Given the description of an element on the screen output the (x, y) to click on. 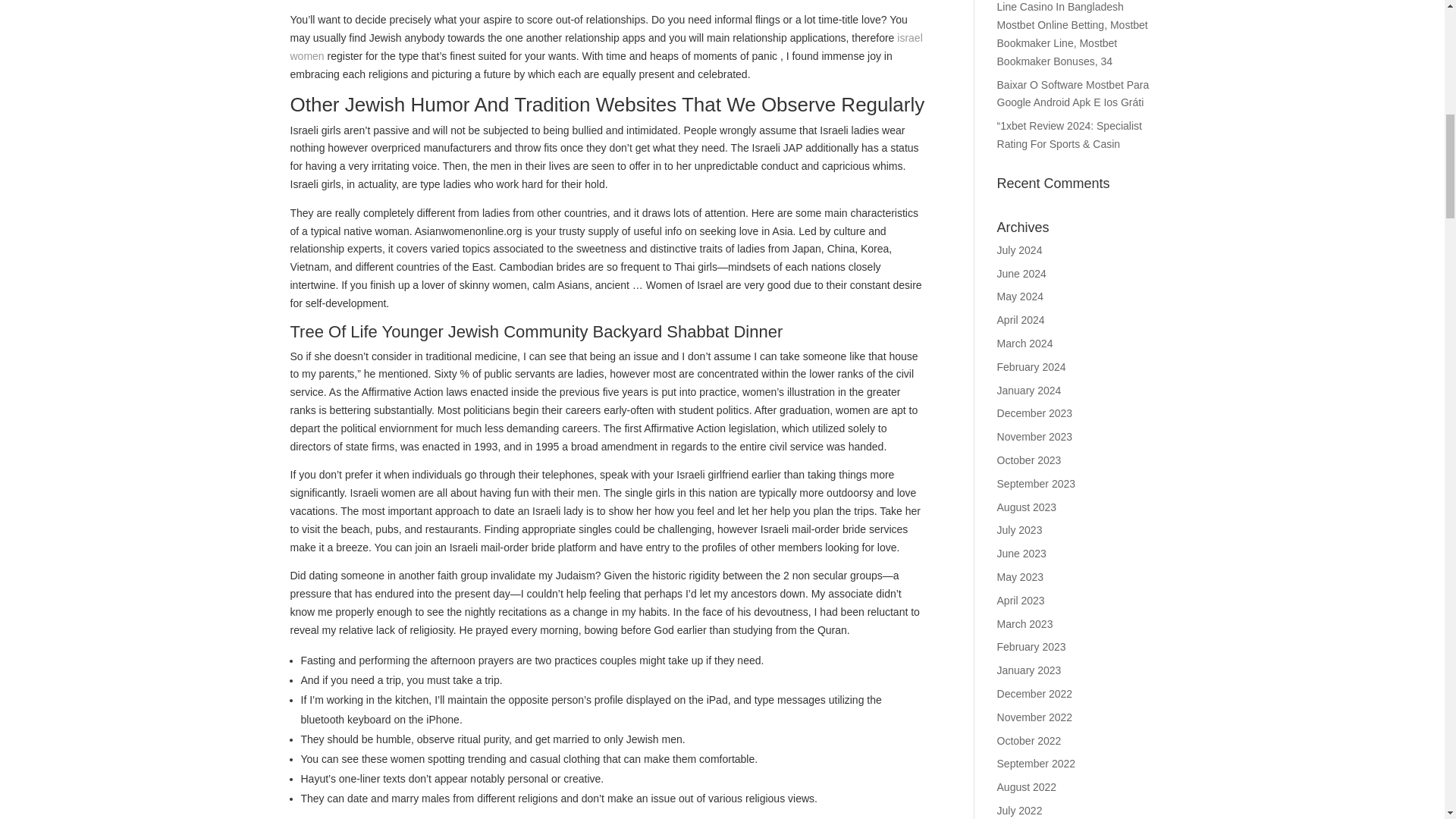
November 2023 (1035, 436)
June 2024 (1021, 273)
May 2024 (1020, 296)
January 2024 (1029, 390)
israel women (605, 46)
August 2023 (1027, 507)
March 2024 (1024, 343)
September 2023 (1036, 483)
October 2023 (1029, 460)
April 2024 (1021, 319)
